Given the description of an element on the screen output the (x, y) to click on. 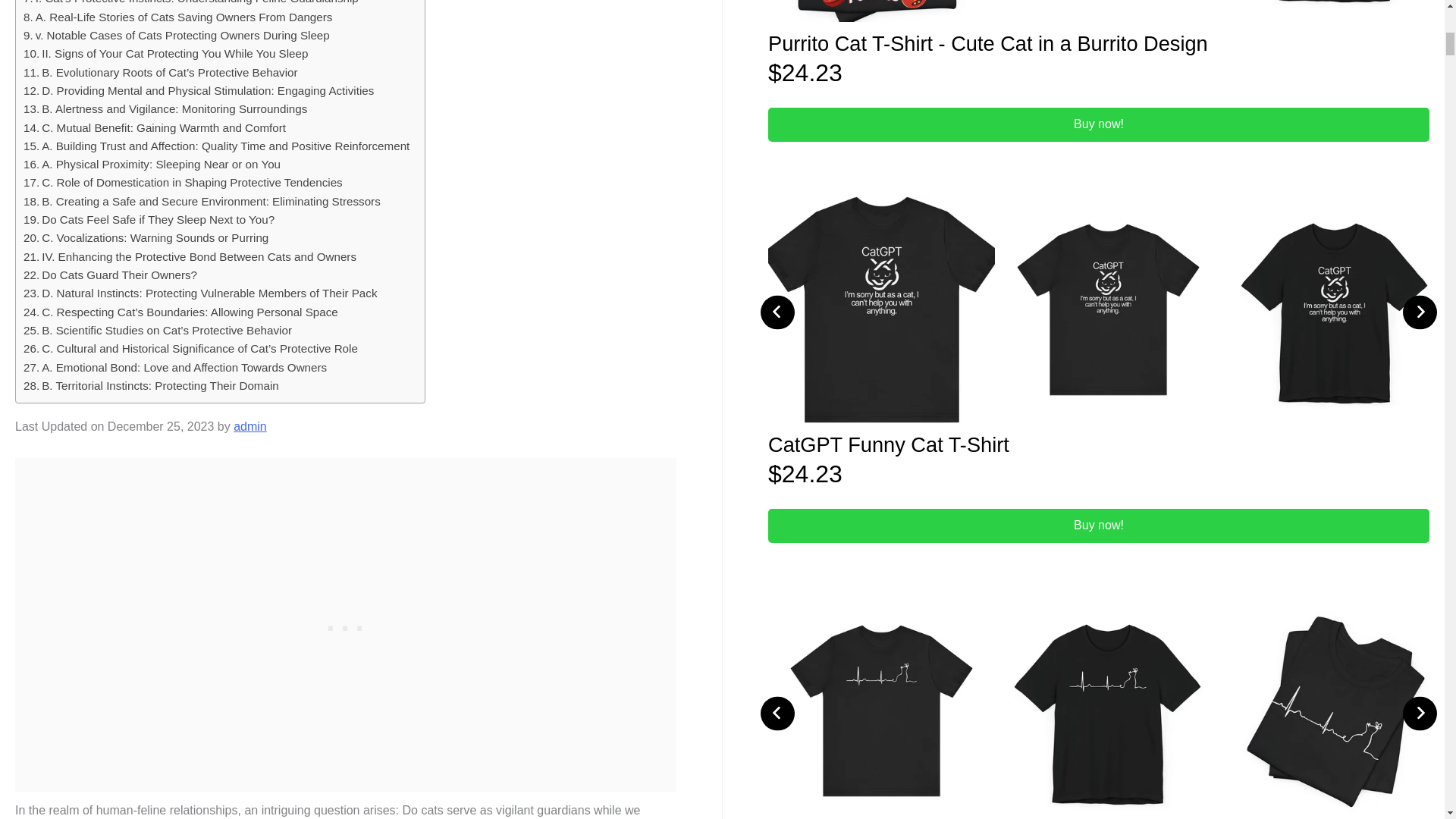
A. Real-Life Stories of Cats Saving Owners From Dangers (177, 17)
v. Notable Cases of Cats Protecting Owners During Sleep (176, 35)
v. Notable Cases of Cats Protecting Owners During Sleep (176, 35)
B. Alertness and Vigilance: Monitoring Surroundings (165, 108)
II. Signs of Your Cat Protecting You While You Sleep (165, 54)
C. Mutual Benefit: Gaining Warmth and Comfort (154, 127)
II. Signs of Your Cat Protecting You While You Sleep (165, 54)
A. Real-Life Stories of Cats Saving Owners From Dangers (177, 17)
